Given the description of an element on the screen output the (x, y) to click on. 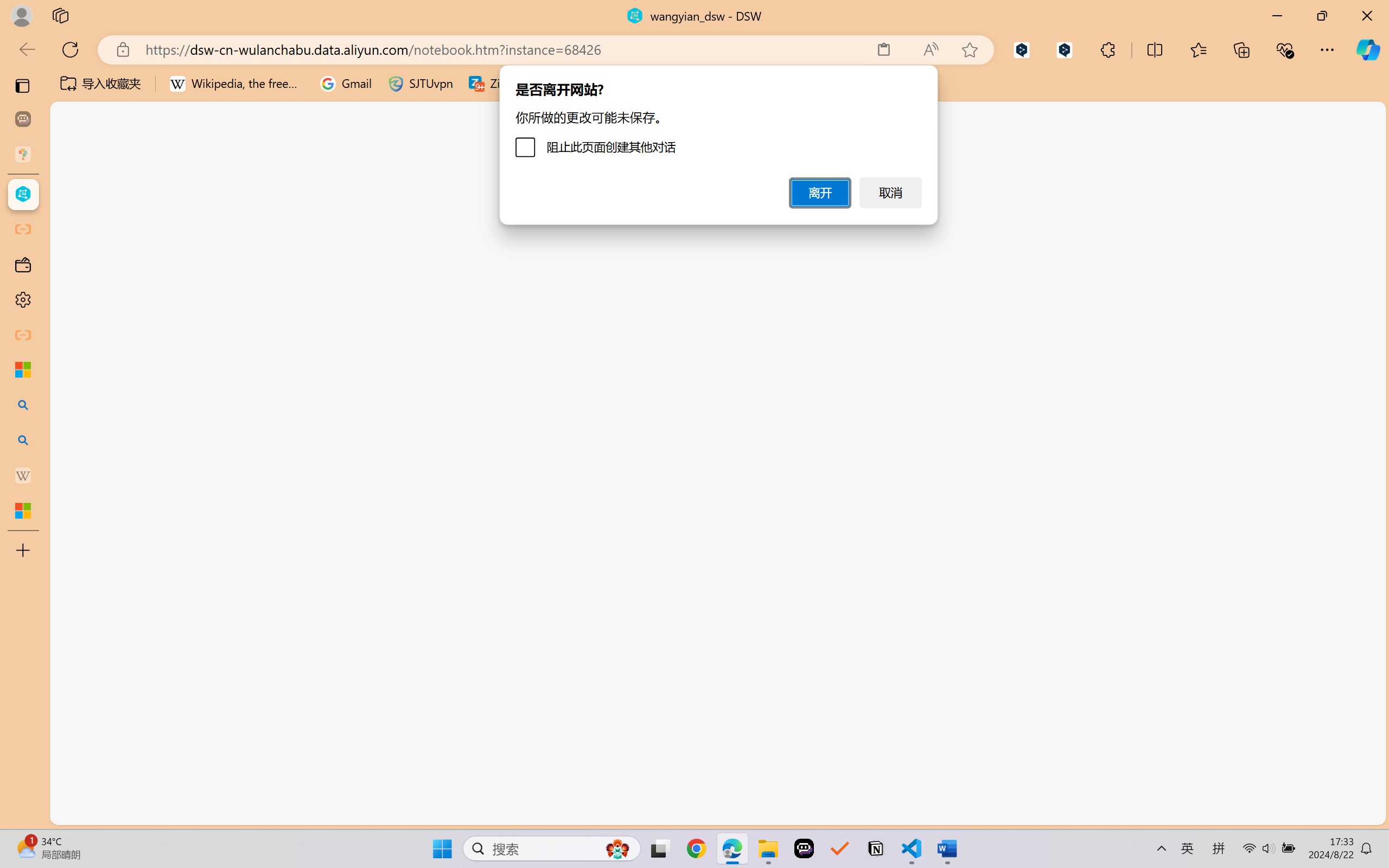
Google Chrome (696, 848)
Class: menubar compact overflow-menu-only (73, 194)
Source Control (Ctrl+Shift+G) (73, 328)
No Problems (115, 812)
Search (Ctrl+Shift+F) (73, 281)
Explorer (Ctrl+Shift+E) (73, 234)
